Given the description of an element on the screen output the (x, y) to click on. 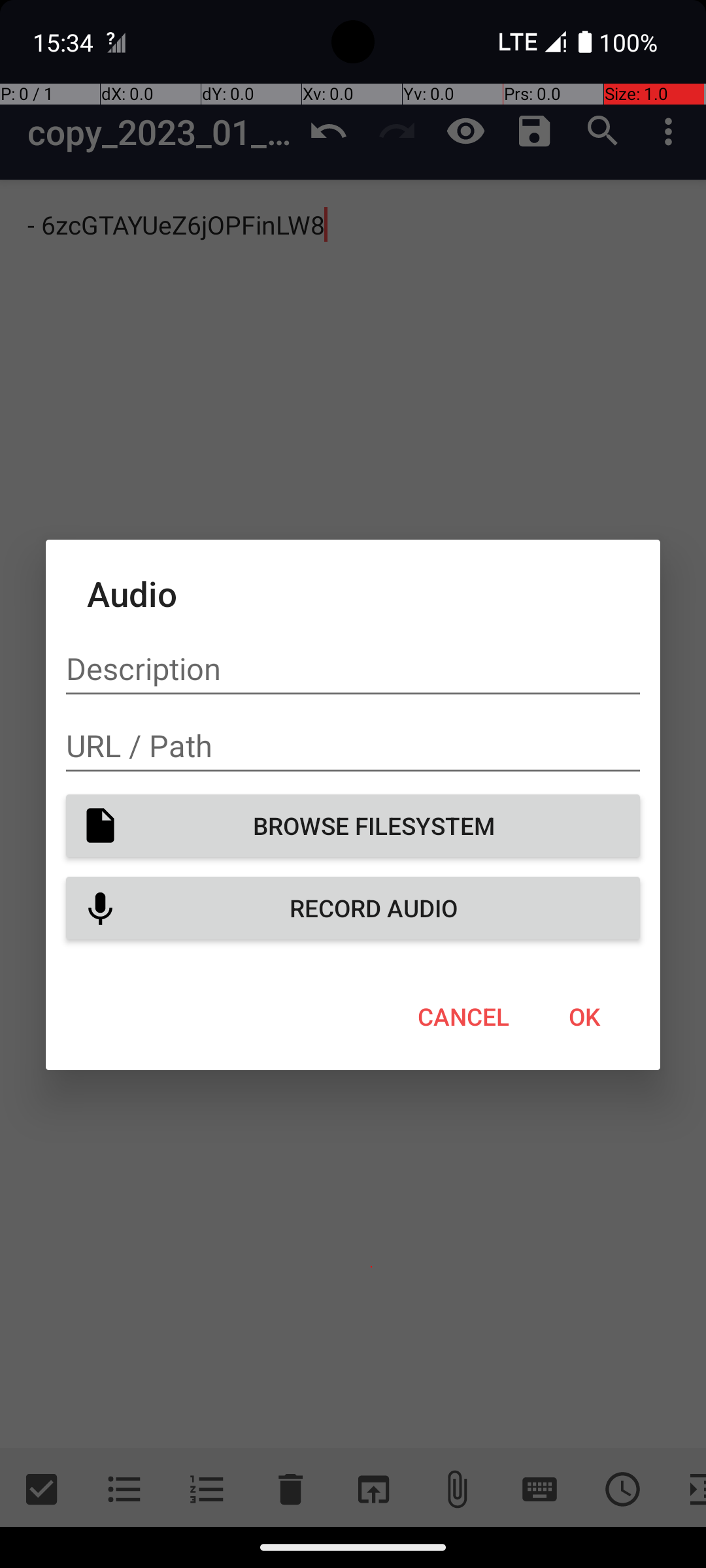
URL / Path Element type: android.widget.EditText (352, 745)
BROWSE FILESYSTEM Element type: android.widget.Button (352, 825)
RECORD AUDIO Element type: android.widget.Button (352, 907)
